Given the description of an element on the screen output the (x, y) to click on. 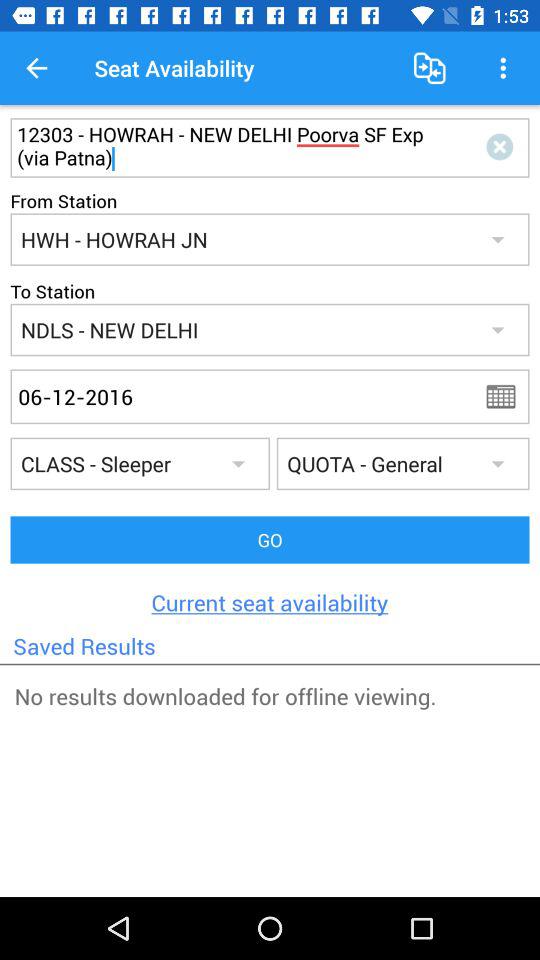
swipe until the go item (269, 539)
